Given the description of an element on the screen output the (x, y) to click on. 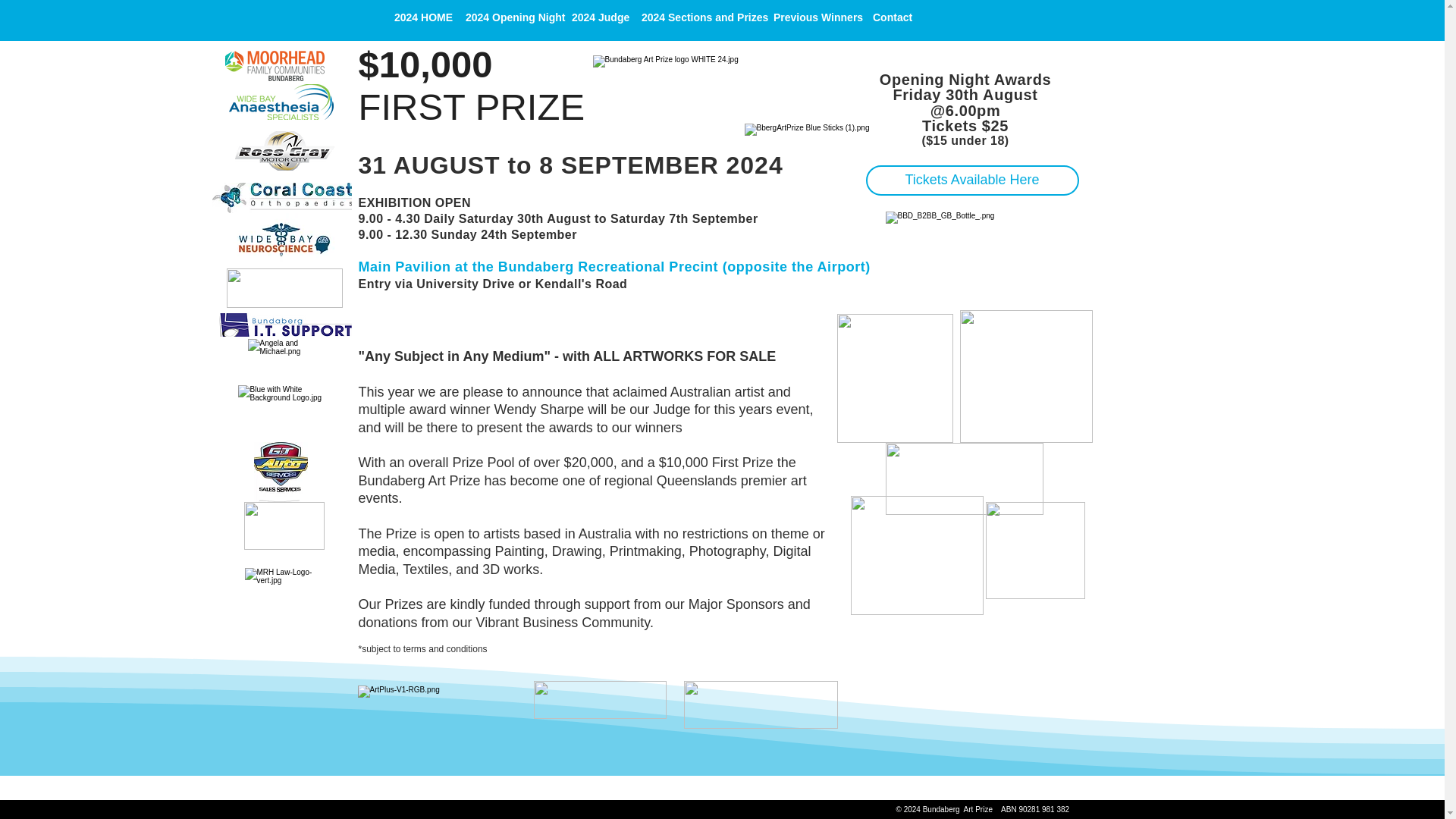
2024 Judge (596, 17)
Previous Winners (812, 17)
2024 Opening Night (508, 17)
2024 Sections and Prizes (696, 17)
2024 HOME (419, 17)
Tickets Available Here (972, 180)
ABN 90281 981 382 (1034, 809)
Contact (890, 17)
